Given the description of an element on the screen output the (x, y) to click on. 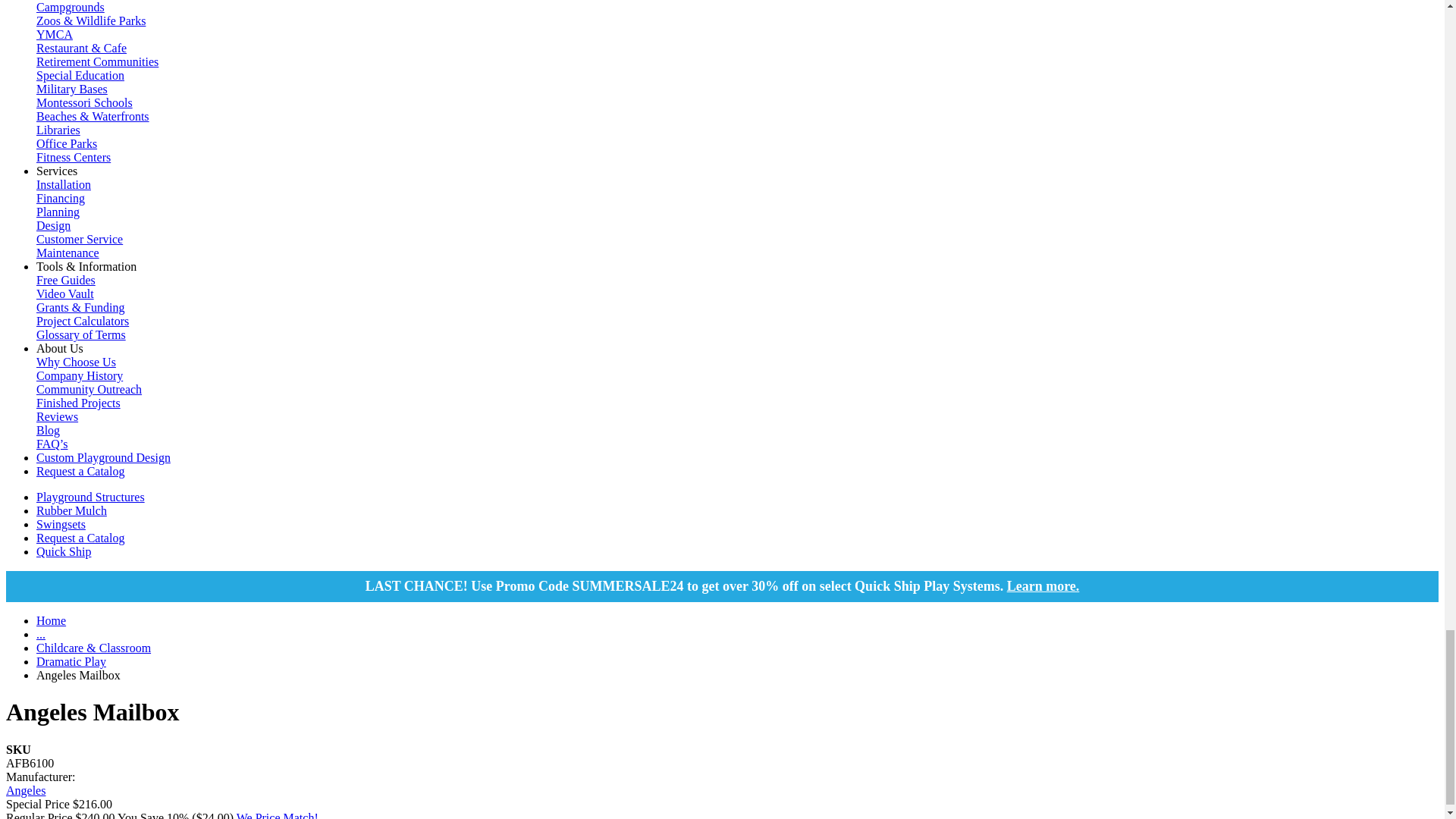
view all Angeles products (25, 789)
